Given the description of an element on the screen output the (x, y) to click on. 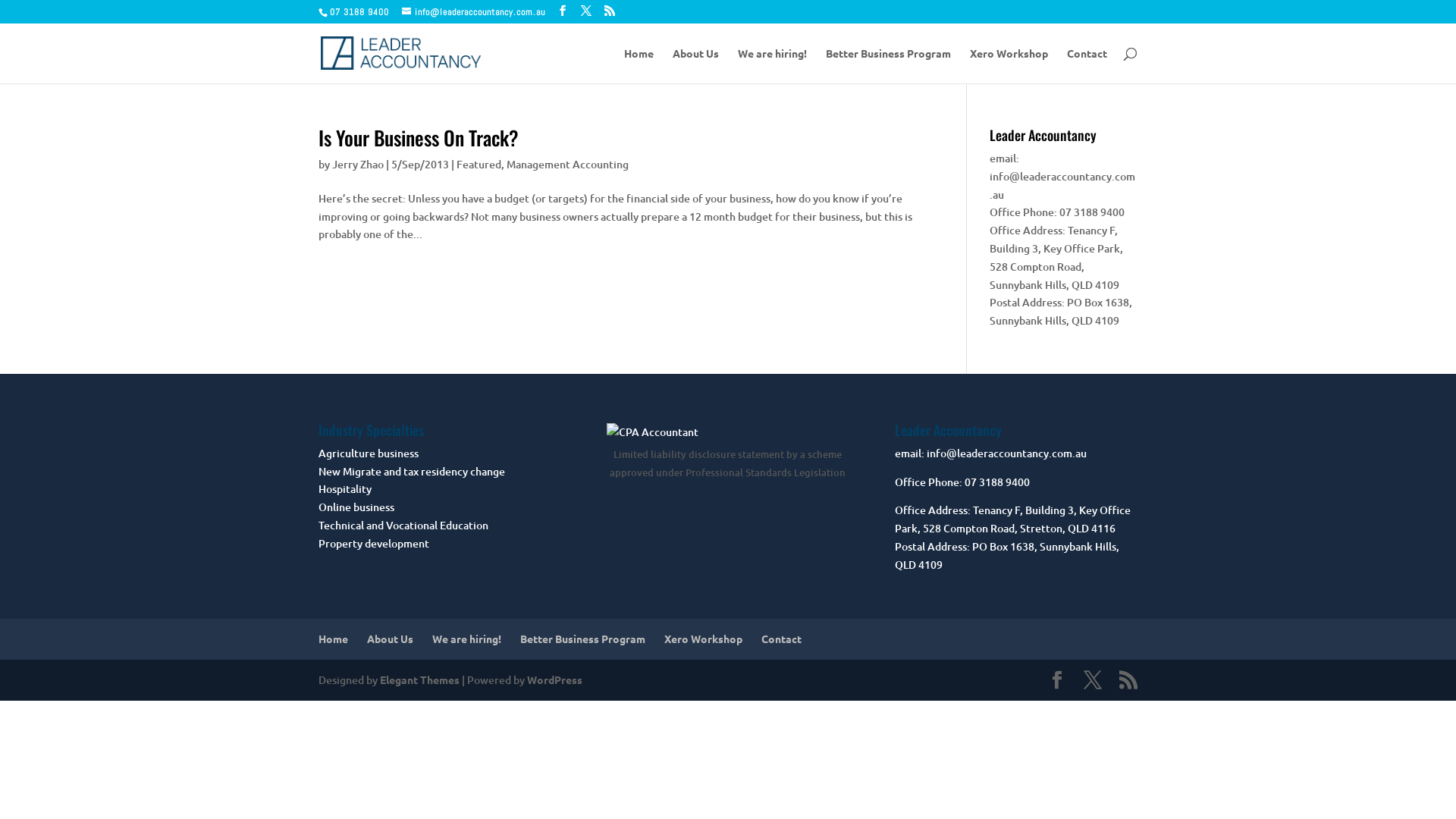
Better Business Program Element type: text (887, 65)
Contact Element type: text (781, 638)
Jerry Zhao Element type: text (357, 163)
WordPress Element type: text (554, 679)
We are hiring! Element type: text (771, 65)
About Us Element type: text (390, 638)
info@leaderaccountancy.com.au Element type: text (473, 12)
Elegant Themes Element type: text (419, 679)
Featured Element type: text (478, 163)
We are hiring! Element type: text (466, 638)
Xero Workshop Element type: text (703, 638)
Home Element type: text (638, 65)
Home Element type: text (333, 638)
Xero Workshop Element type: text (1008, 65)
Is Your Business On Track? Element type: text (418, 137)
Better Business Program Element type: text (582, 638)
About Us Element type: text (695, 65)
Contact Element type: text (1086, 65)
Management Accounting Element type: text (567, 163)
